Given the description of an element on the screen output the (x, y) to click on. 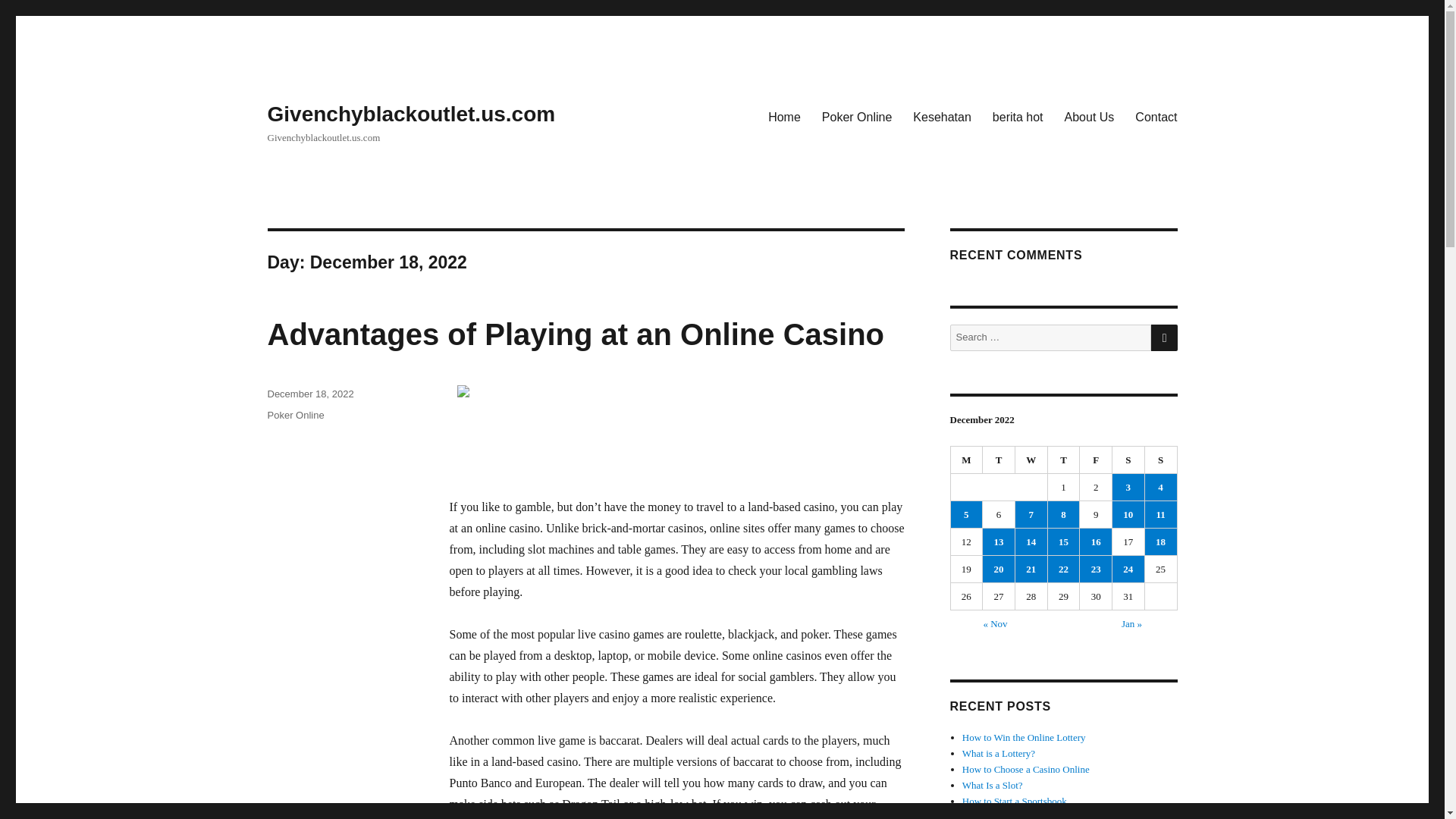
Thursday (1064, 460)
About Us (1089, 116)
16 (1096, 541)
What is a Lottery? (998, 753)
13 (998, 541)
21 (1030, 569)
3 (1128, 487)
berita hot (1017, 116)
Kesehatan (941, 116)
10 (1128, 514)
